Given the description of an element on the screen output the (x, y) to click on. 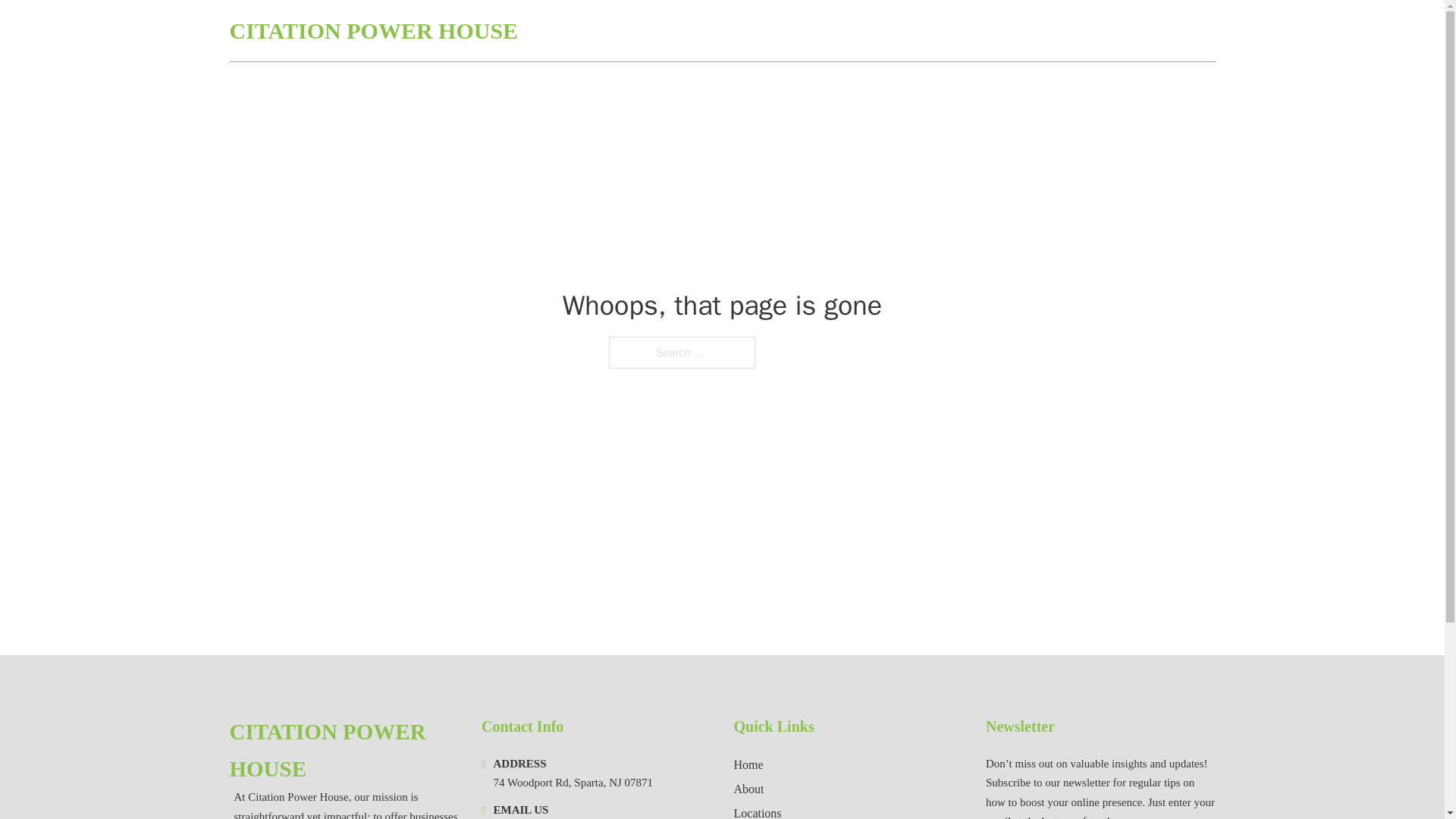
HOME (1032, 31)
Locations (757, 811)
CITATION POWER HOUSE (373, 30)
CITATION POWER HOUSE (343, 750)
LOCATIONS (1105, 31)
About (748, 788)
Home (747, 764)
